Given the description of an element on the screen output the (x, y) to click on. 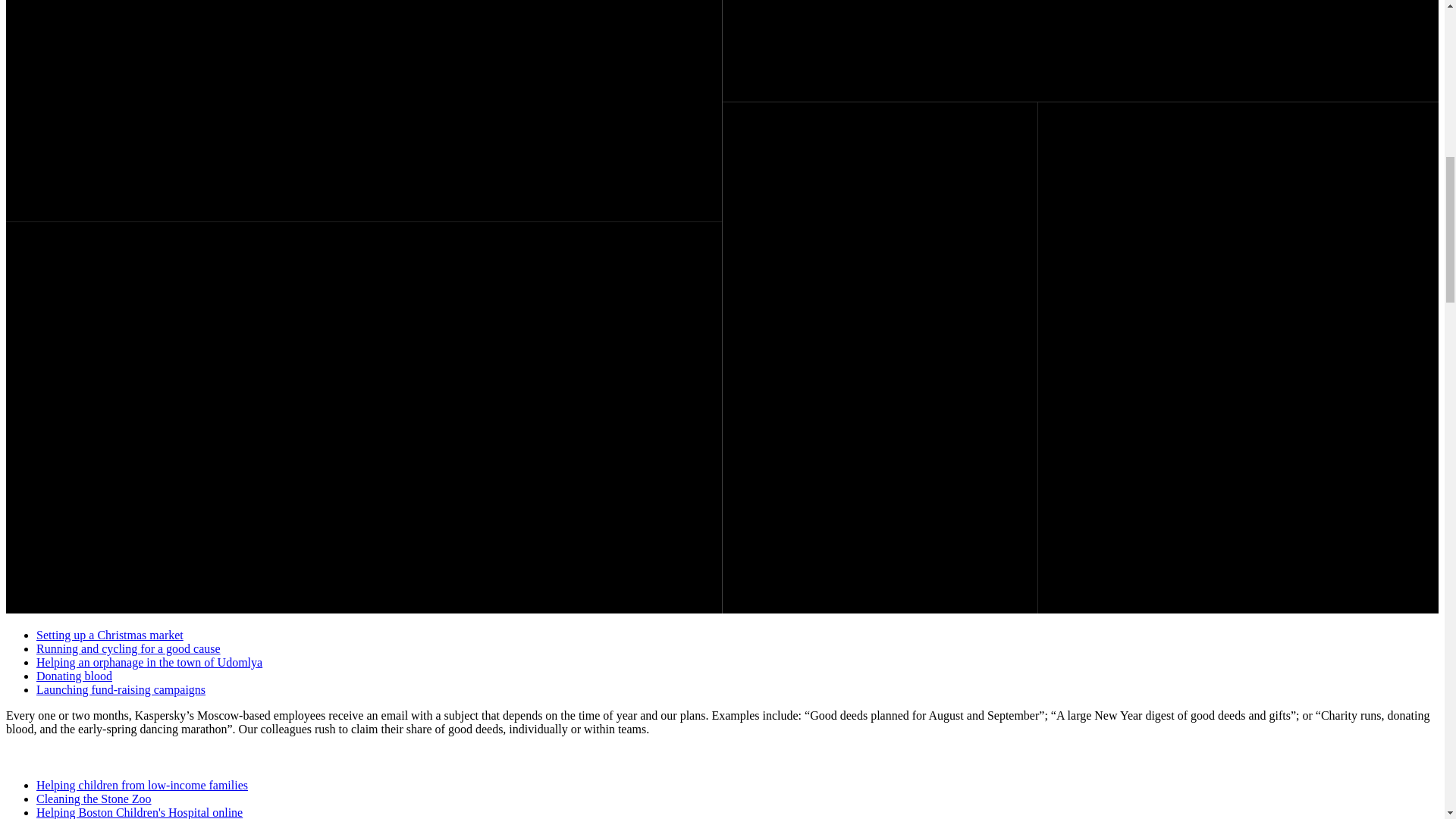
Helping Boston Children's Hospital online (139, 812)
Helping children from low-income families (141, 784)
Donating blood (74, 675)
Launching fund-raising campaigns (120, 689)
Cleaning the Stone Zoo (93, 798)
Running and cycling for a good cause (128, 648)
Setting up a Christmas market (109, 634)
Helping an orphanage in the town of Udomlya (149, 662)
